Given the description of an element on the screen output the (x, y) to click on. 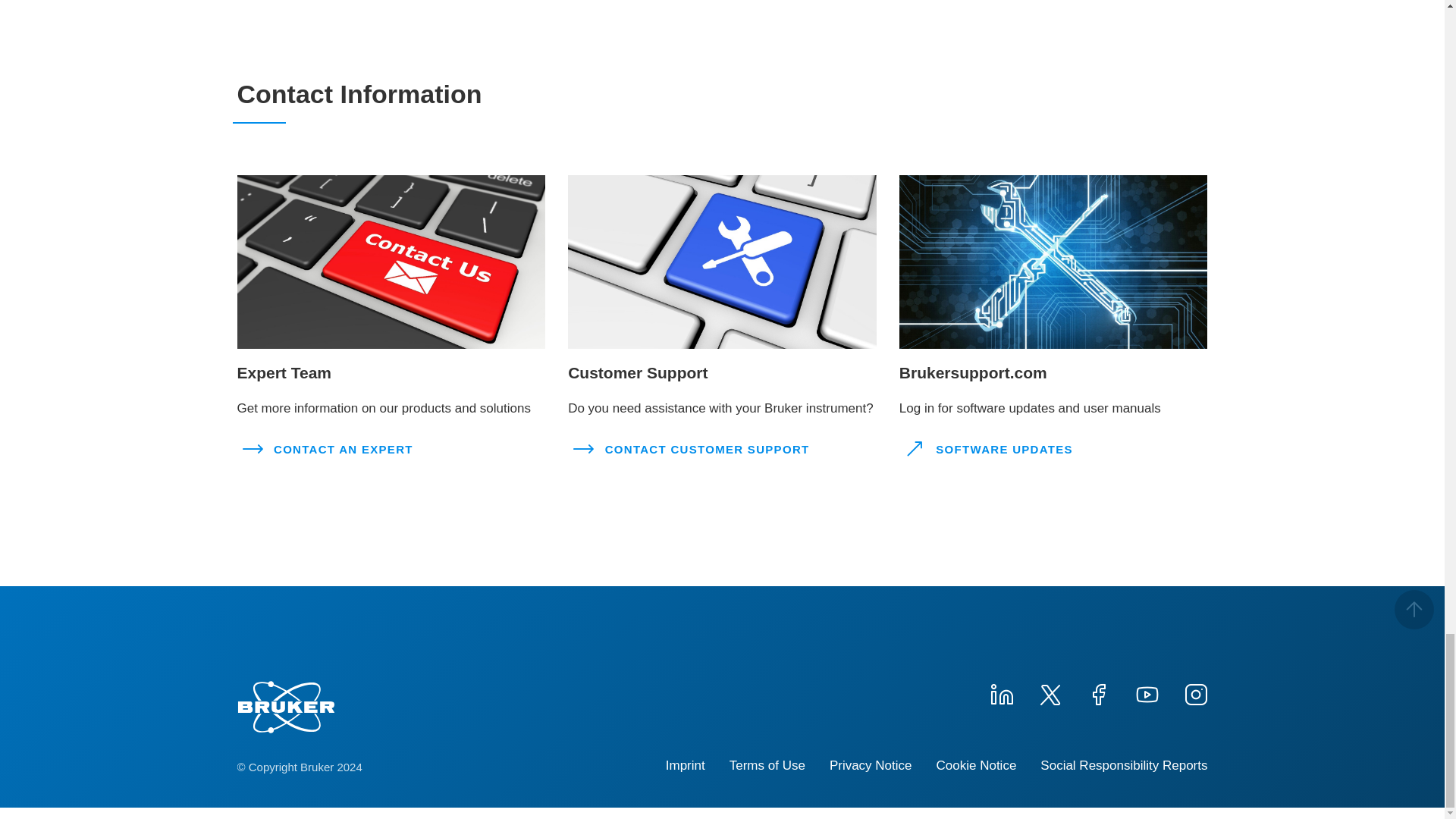
instagram (1194, 692)
linkedin (1000, 692)
youtube (1146, 692)
497272995 (1053, 261)
twitter (1048, 692)
facebook (1097, 692)
